Given the description of an element on the screen output the (x, y) to click on. 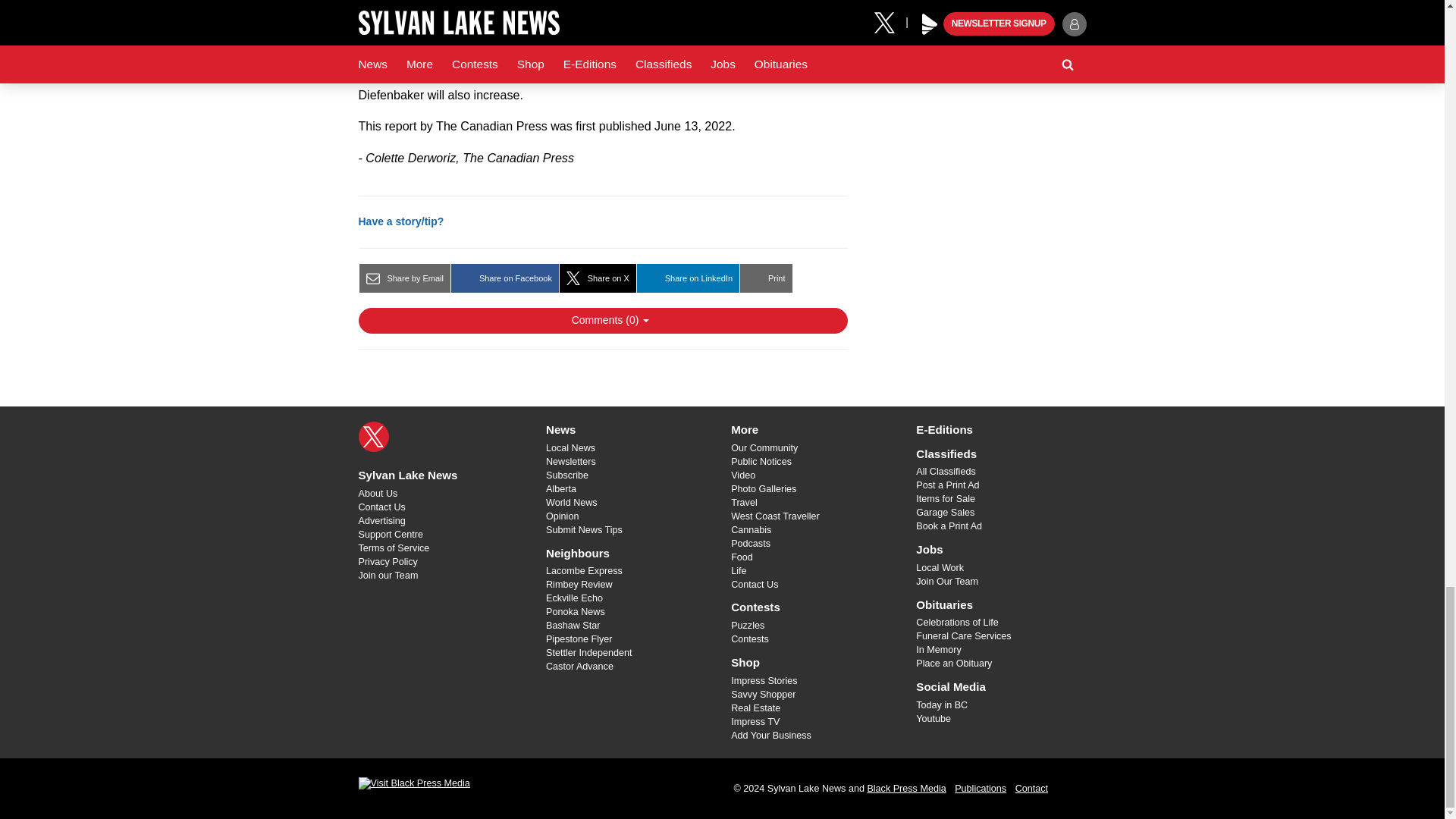
Show Comments (602, 320)
X (373, 436)
